Given the description of an element on the screen output the (x, y) to click on. 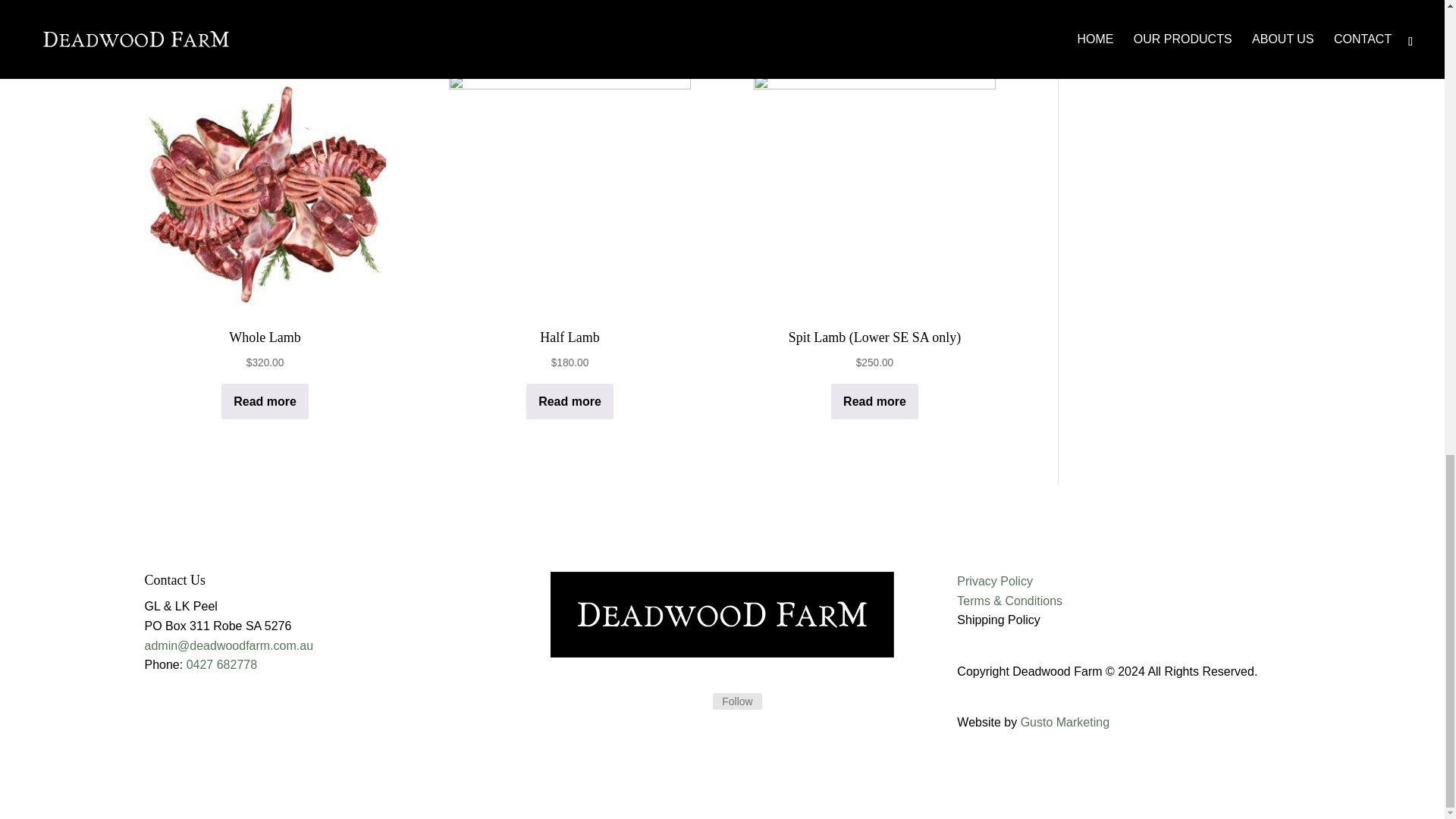
Read more (264, 401)
Read more (568, 401)
Follow (737, 701)
Follow on Facebook (694, 702)
0427 682778 (221, 664)
Facebook (737, 701)
Read more (874, 401)
